Given the description of an element on the screen output the (x, y) to click on. 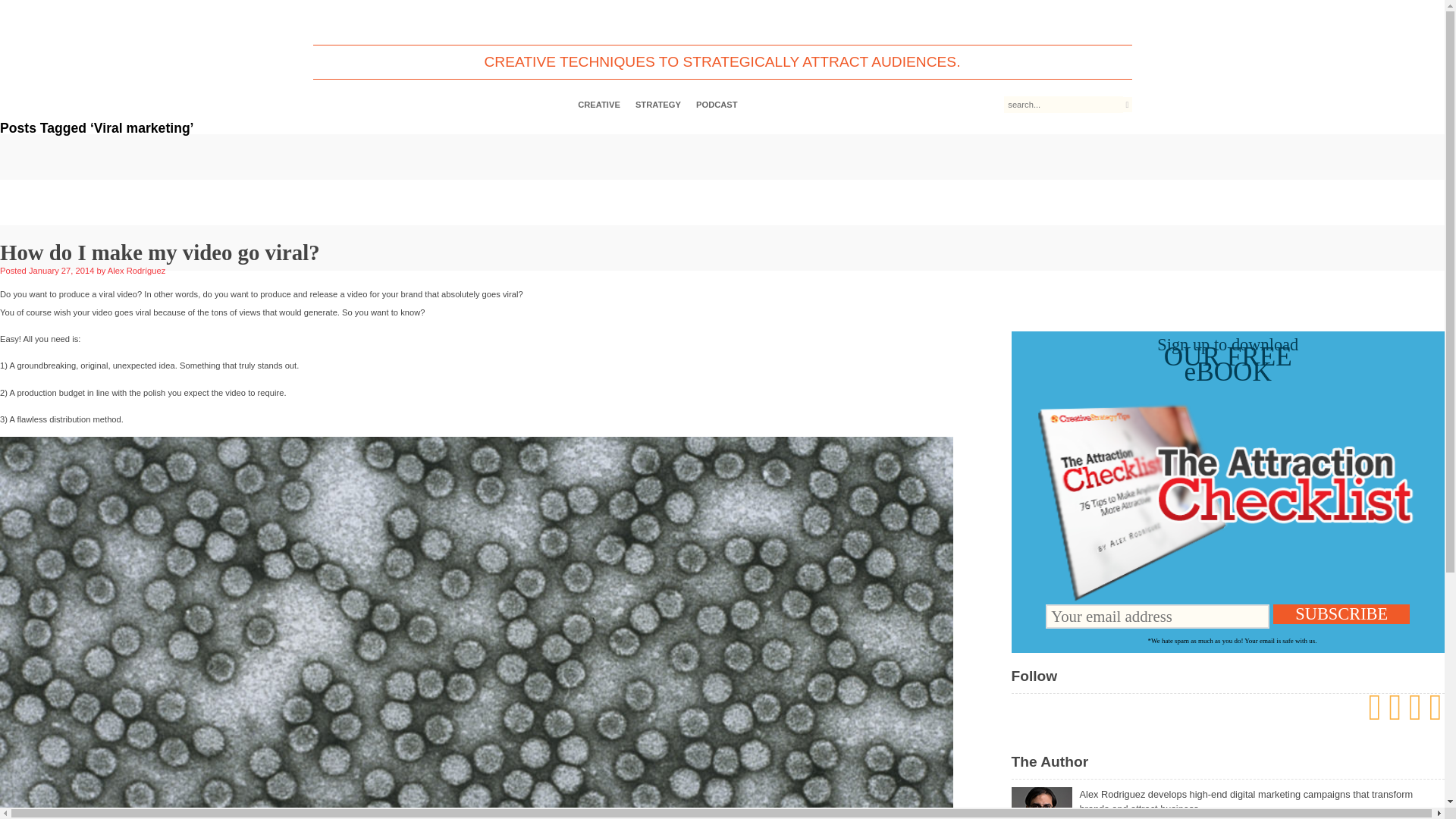
SUBSCRIBE (1340, 614)
CREATIVESTRATEGYTIPS (721, 21)
PODCAST (717, 104)
How do I make my video go viral? (160, 252)
January 27, 2014 (61, 270)
STRATEGY (657, 104)
"Digital BACON." (1197, 818)
SUBSCRIBE (1340, 614)
CREATIVE (598, 104)
4:47 am (61, 270)
